Given the description of an element on the screen output the (x, y) to click on. 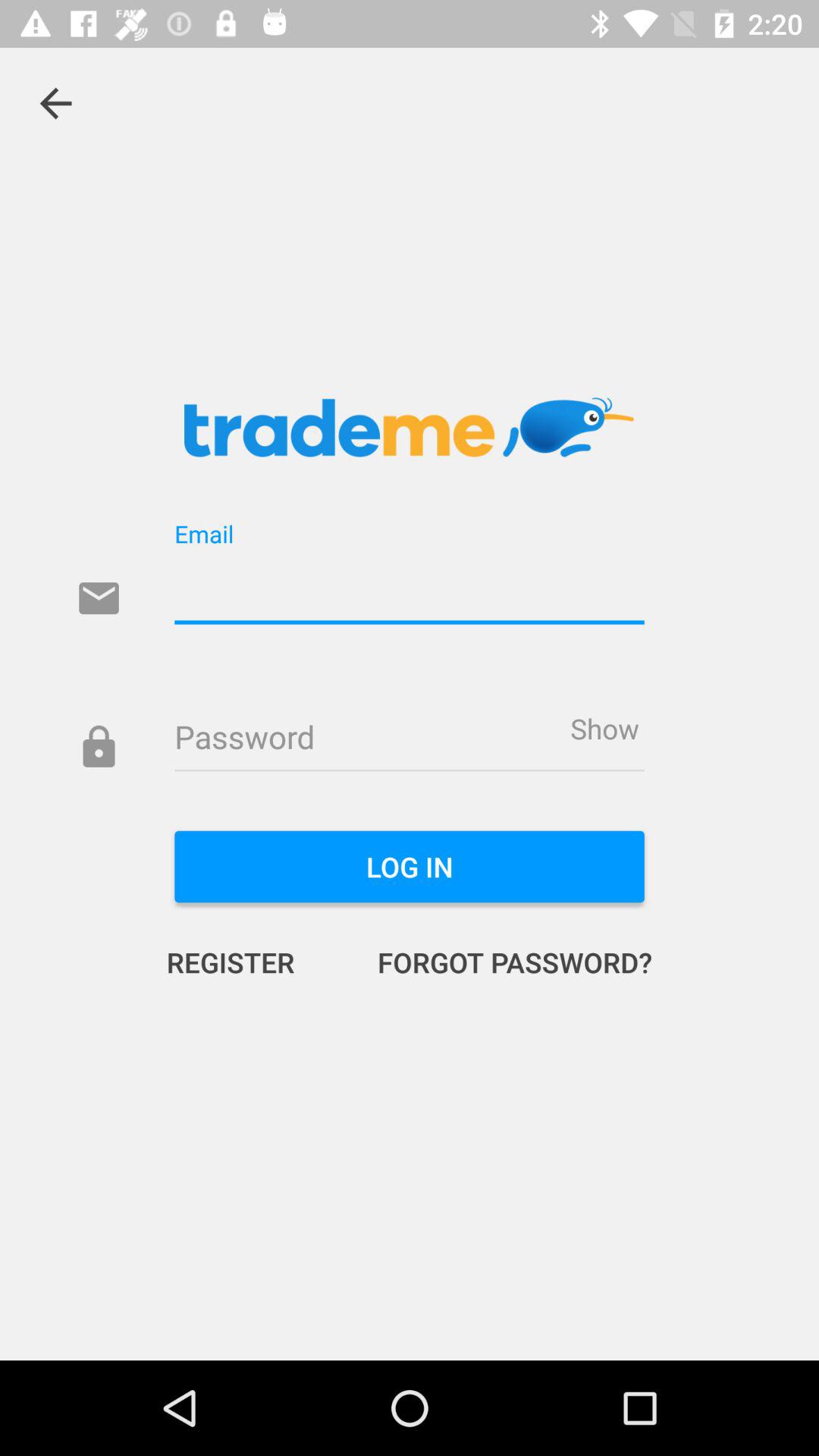
turn off the show icon (604, 728)
